Given the description of an element on the screen output the (x, y) to click on. 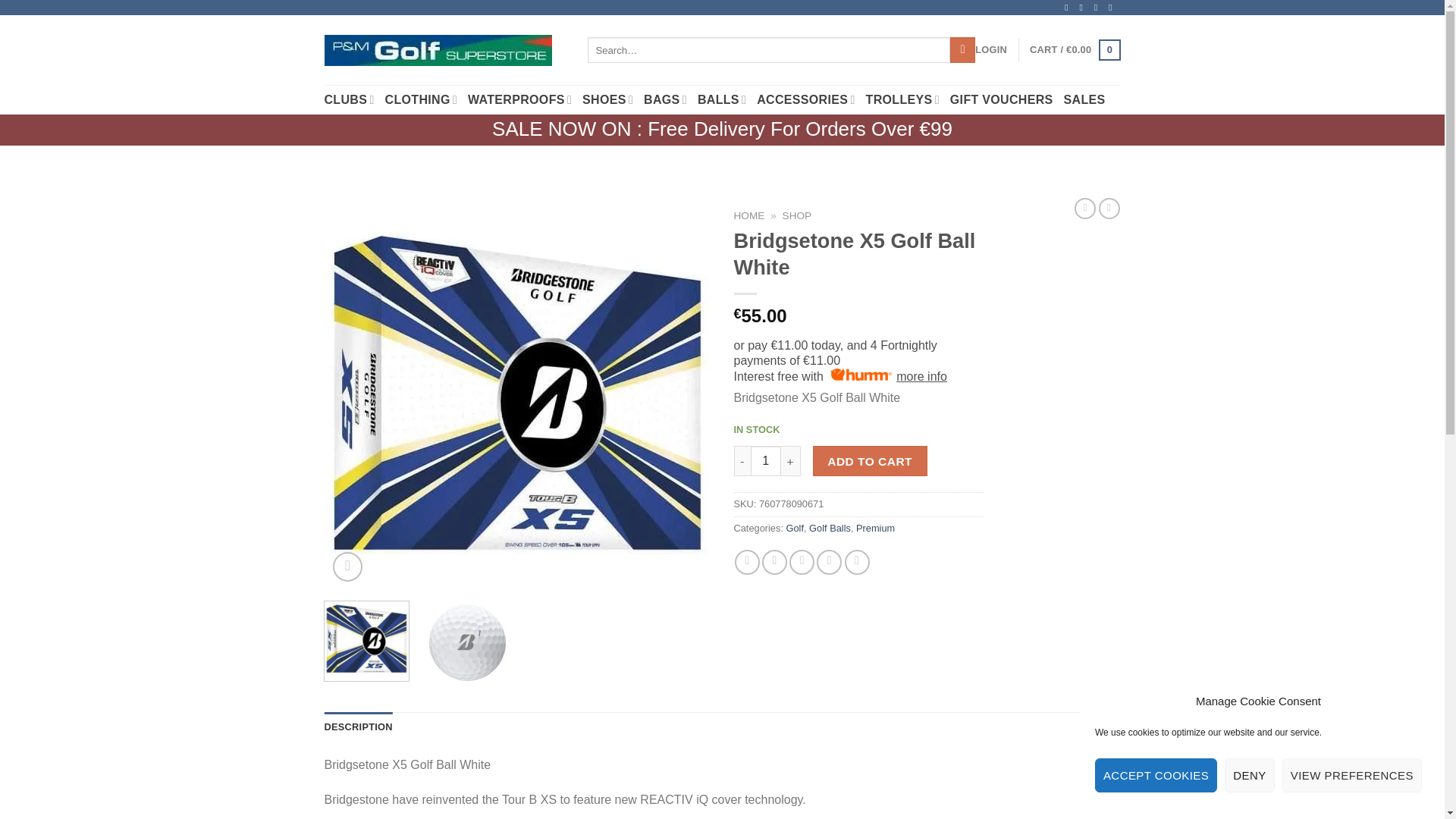
CLUBS (349, 99)
ACCEPT COOKIES (1155, 775)
Search (962, 49)
Cart (1074, 49)
VIEW PREFERENCES (1352, 775)
1 (765, 460)
CLOTHING (421, 99)
Share on Facebook (747, 561)
LOGIN (991, 49)
Zoom (347, 566)
